Given the description of an element on the screen output the (x, y) to click on. 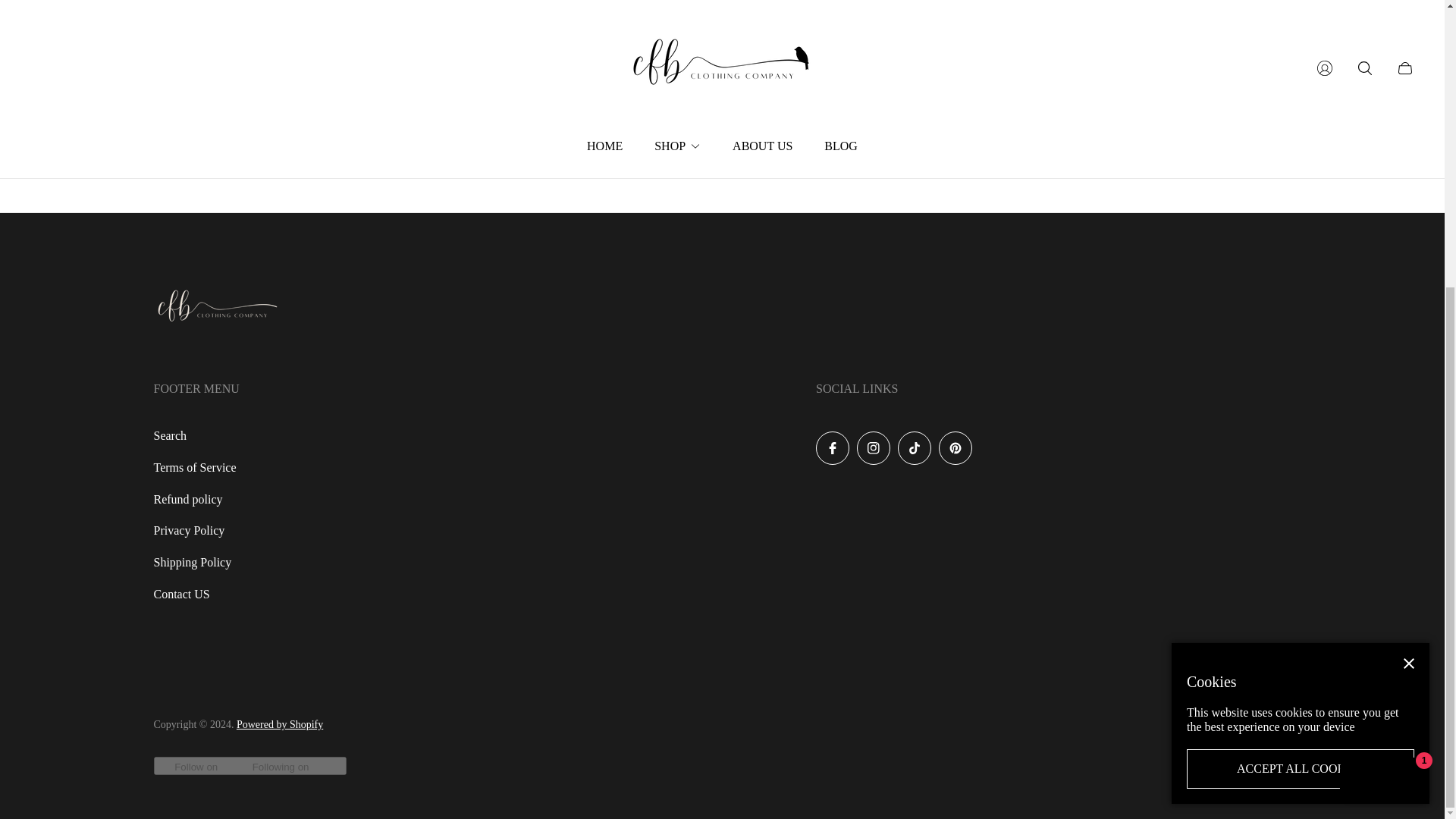
Shopify online store chat (1383, 347)
